Given the description of an element on the screen output the (x, y) to click on. 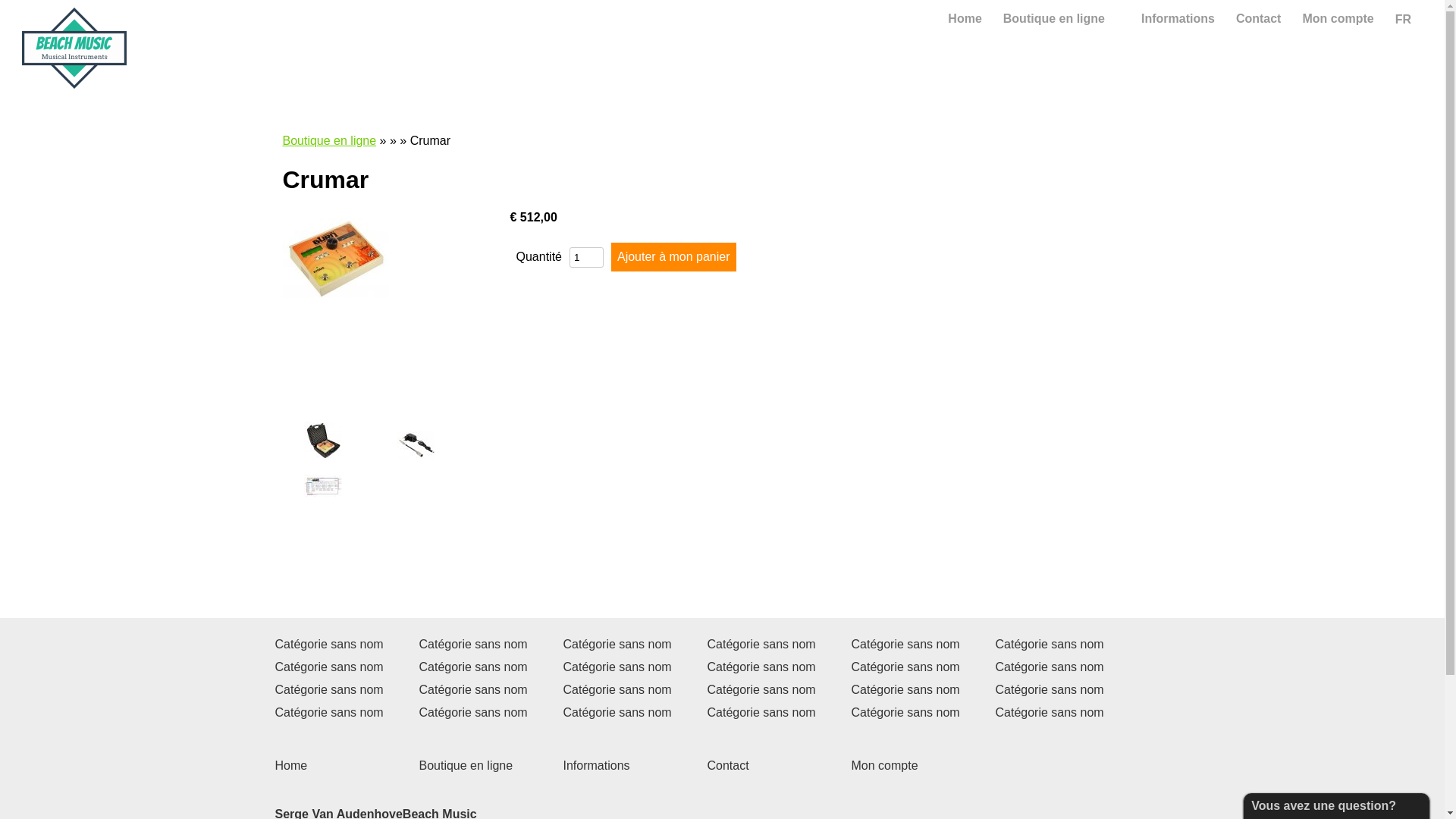
Contact Element type: text (1258, 18)
Home Element type: text (964, 18)
FR Element type: text (1410, 18)
Contact Element type: text (727, 765)
Mon compte Element type: text (883, 765)
Mon compte Element type: text (1337, 18)
Vous avez une question? Element type: text (1323, 805)
Informations Element type: text (1177, 18)
Home Element type: text (290, 765)
Boutique en ligne Element type: text (465, 765)
Boutique en ligne Element type: text (1061, 18)
Boutique en ligne Element type: text (329, 140)
Informations Element type: text (595, 765)
Rechercher Element type: text (892, 25)
